Given the description of an element on the screen output the (x, y) to click on. 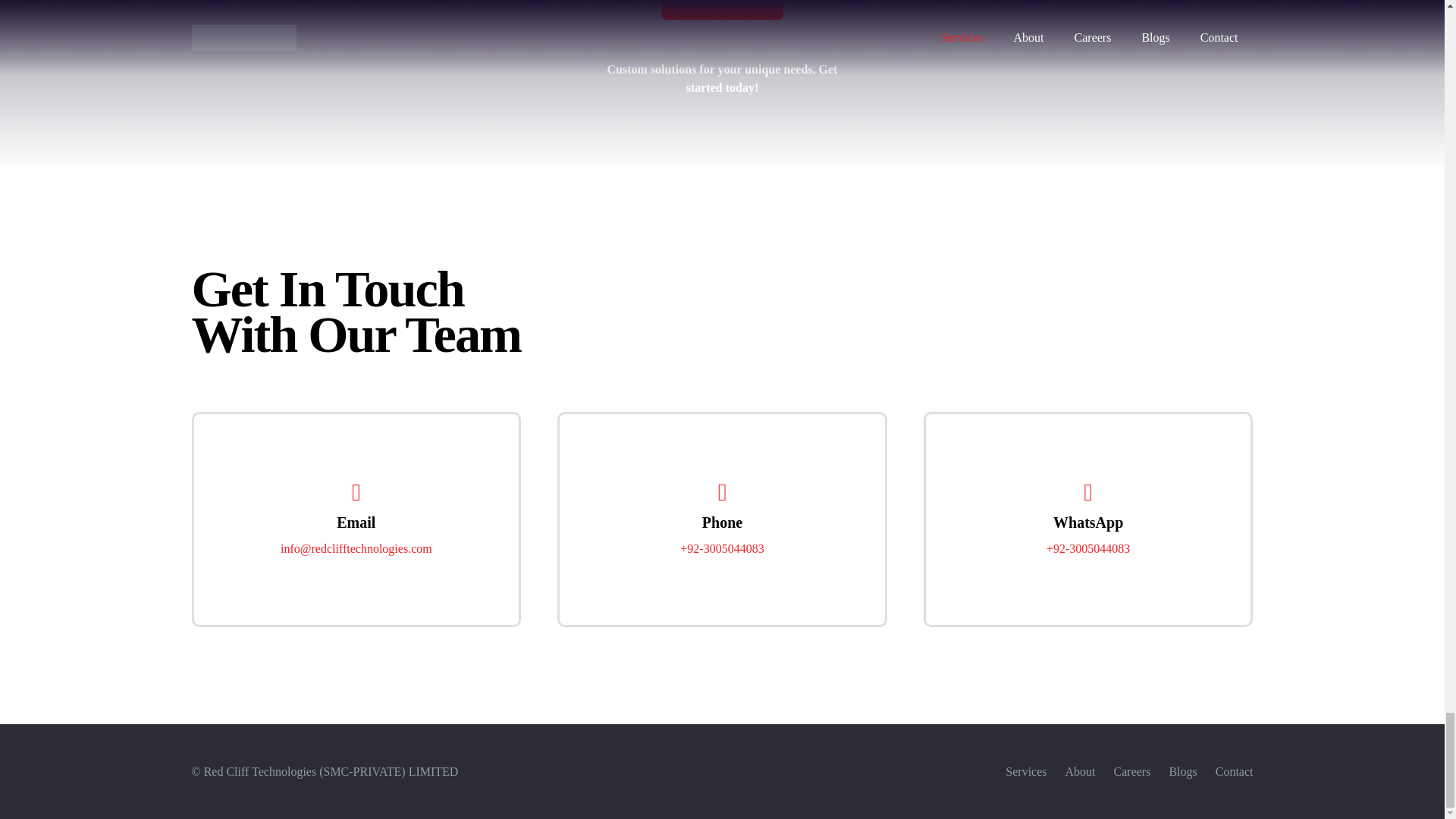
Get started (722, 10)
About (1080, 771)
Services (1026, 771)
Blogs (1182, 771)
Contact (1234, 771)
Careers (1132, 771)
